Given the description of an element on the screen output the (x, y) to click on. 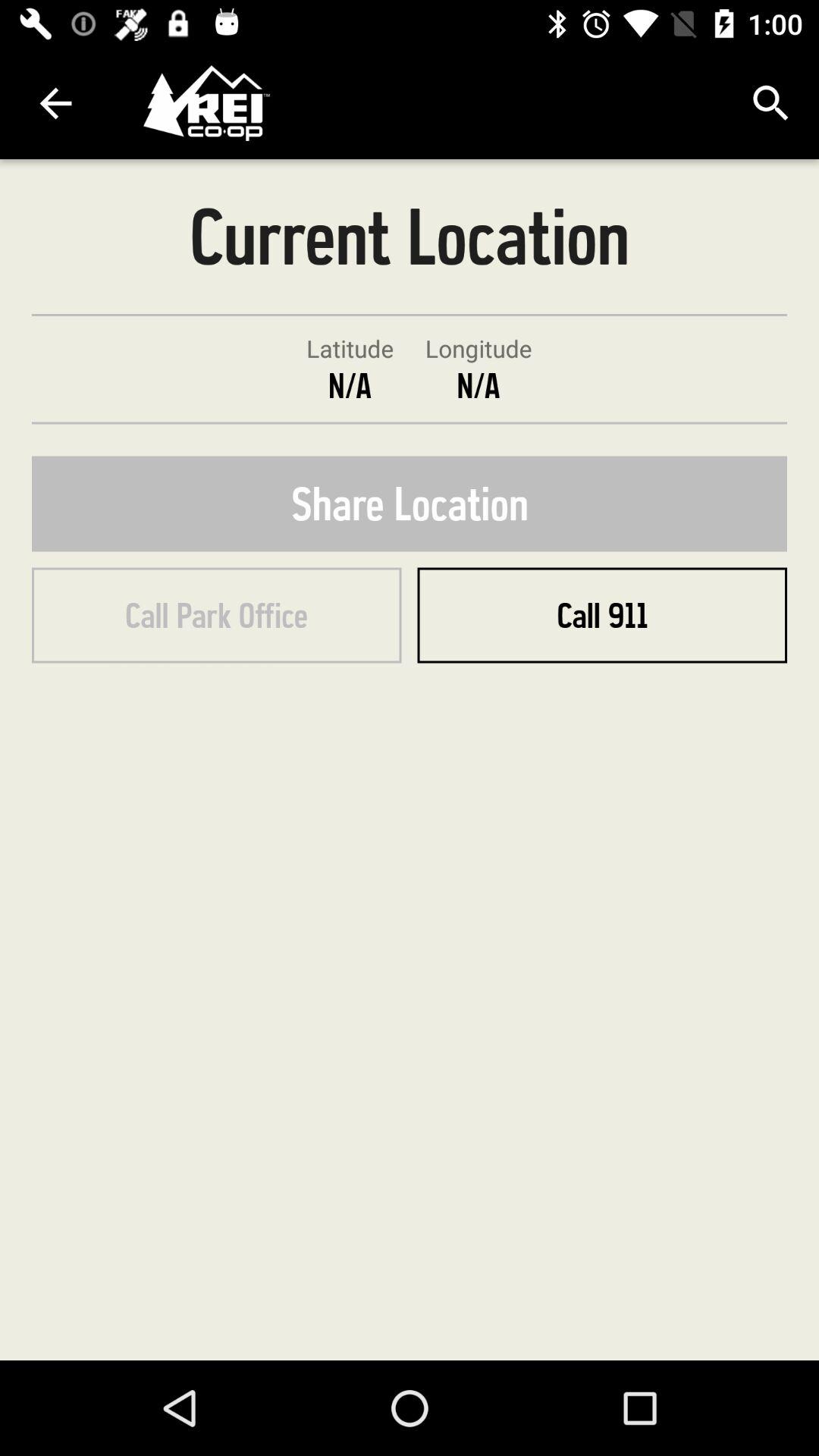
flip until call 911 icon (602, 615)
